Given the description of an element on the screen output the (x, y) to click on. 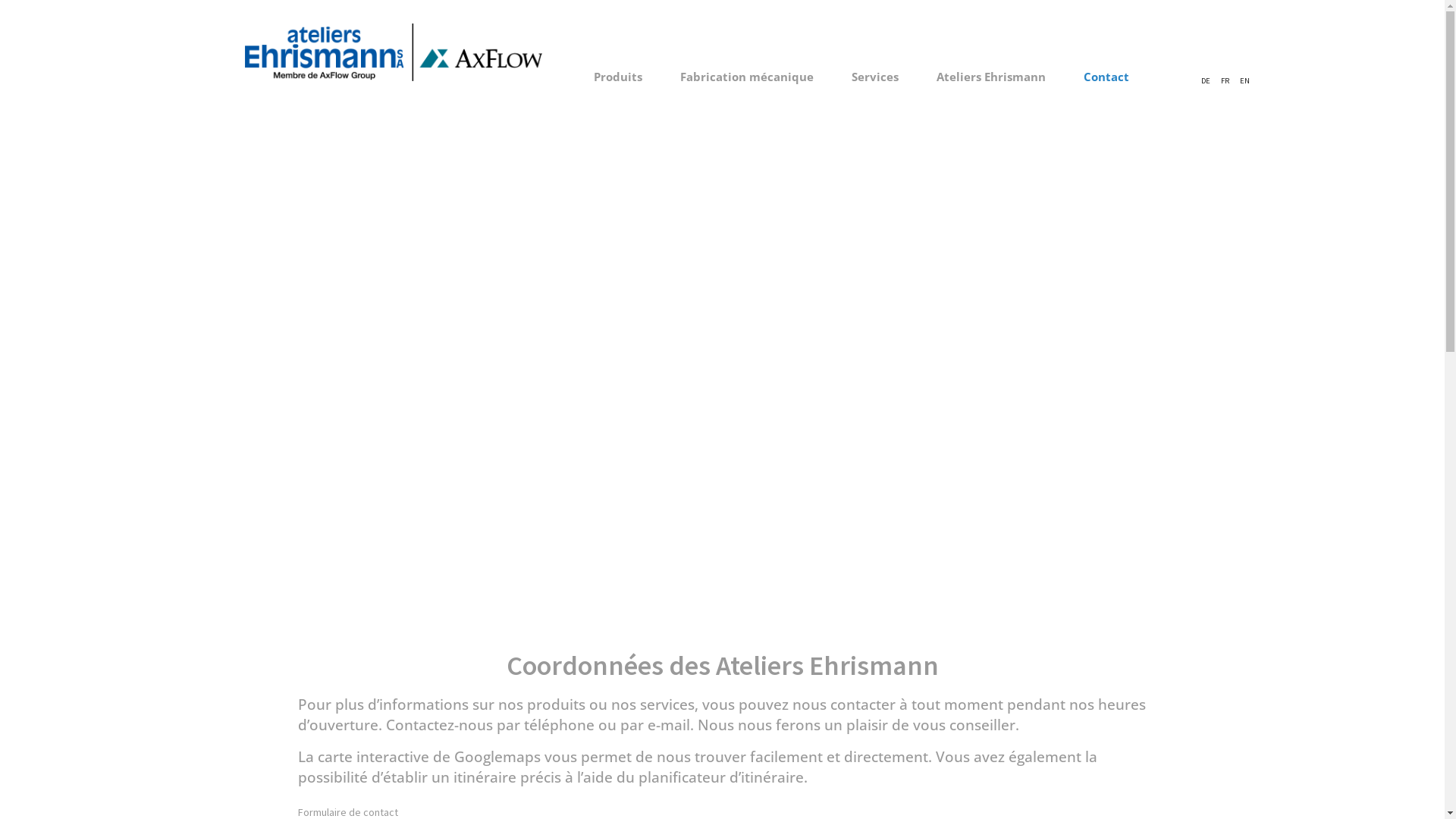
Produits Element type: text (625, 76)
Ateliers Ehrismann Element type: text (990, 76)
Services Element type: text (874, 76)
FR Element type: text (1224, 79)
Contact Element type: text (1097, 76)
DE Element type: text (1205, 79)
EN Element type: text (1244, 79)
